Given the description of an element on the screen output the (x, y) to click on. 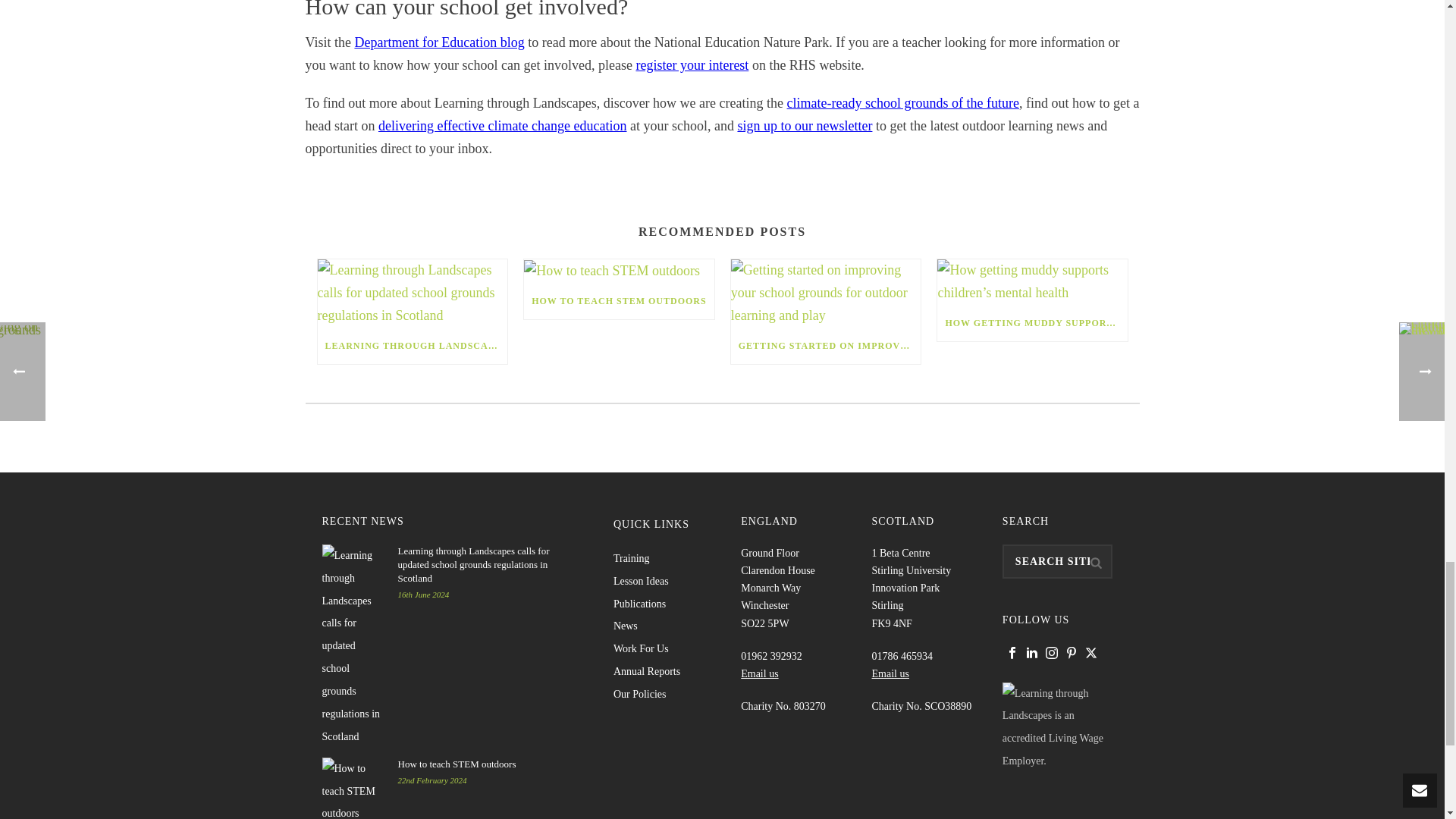
How to teach STEM outdoors (619, 270)
